Given the description of an element on the screen output the (x, y) to click on. 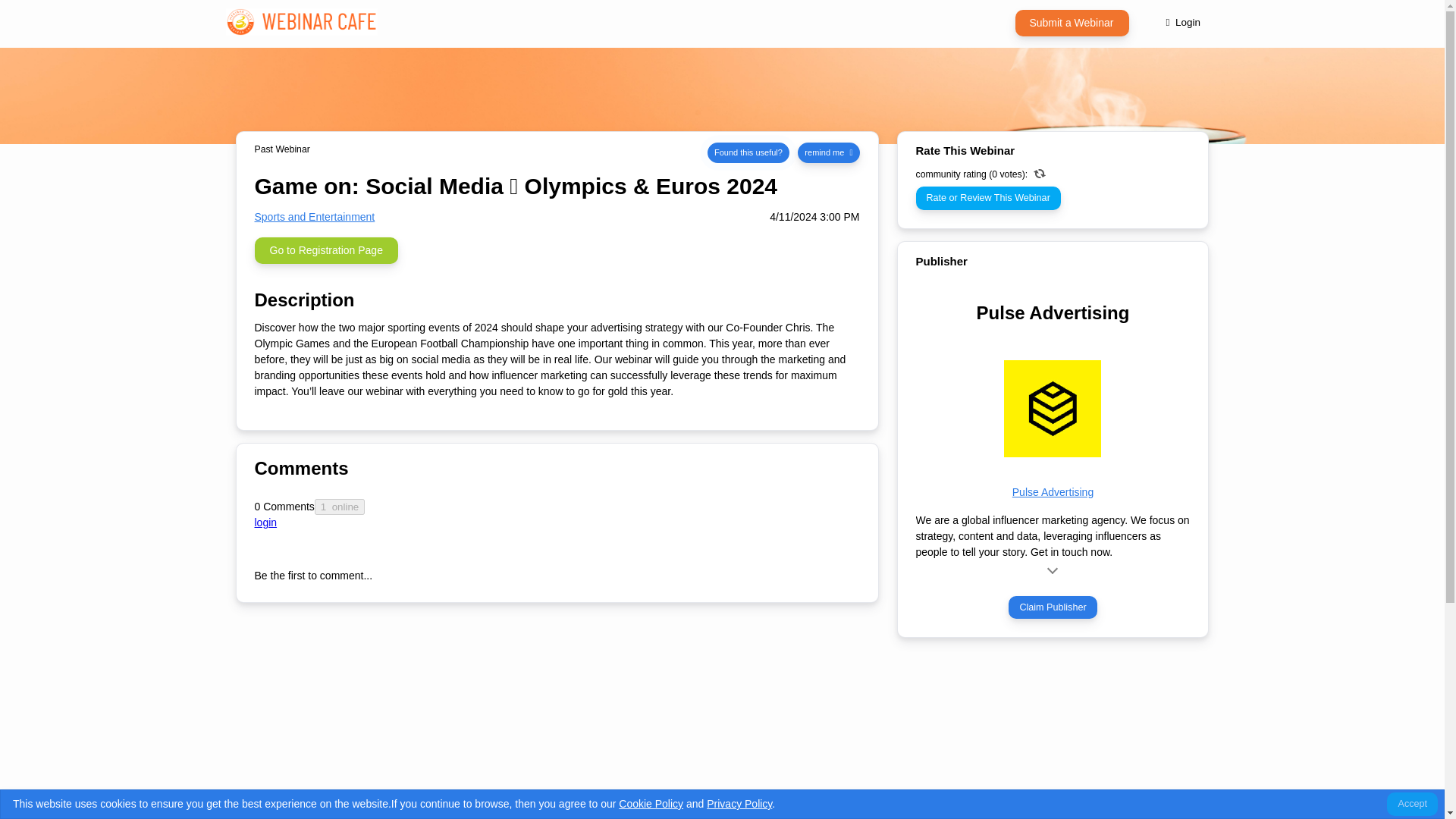
0 (1042, 176)
Found this useful? (748, 152)
Privacy Policy (738, 803)
remind me (828, 152)
Submit a Webinar (1072, 22)
Login (1182, 22)
Go to Registration Page (325, 250)
Claim Publisher (1052, 607)
Cookie Policy (650, 803)
Pulse Advertising (1052, 491)
Remind me to register on the morning of the webinar (828, 152)
Sports and Entertainment (314, 216)
Accept (1412, 803)
Rate or Review This Webinar (988, 197)
